Given the description of an element on the screen output the (x, y) to click on. 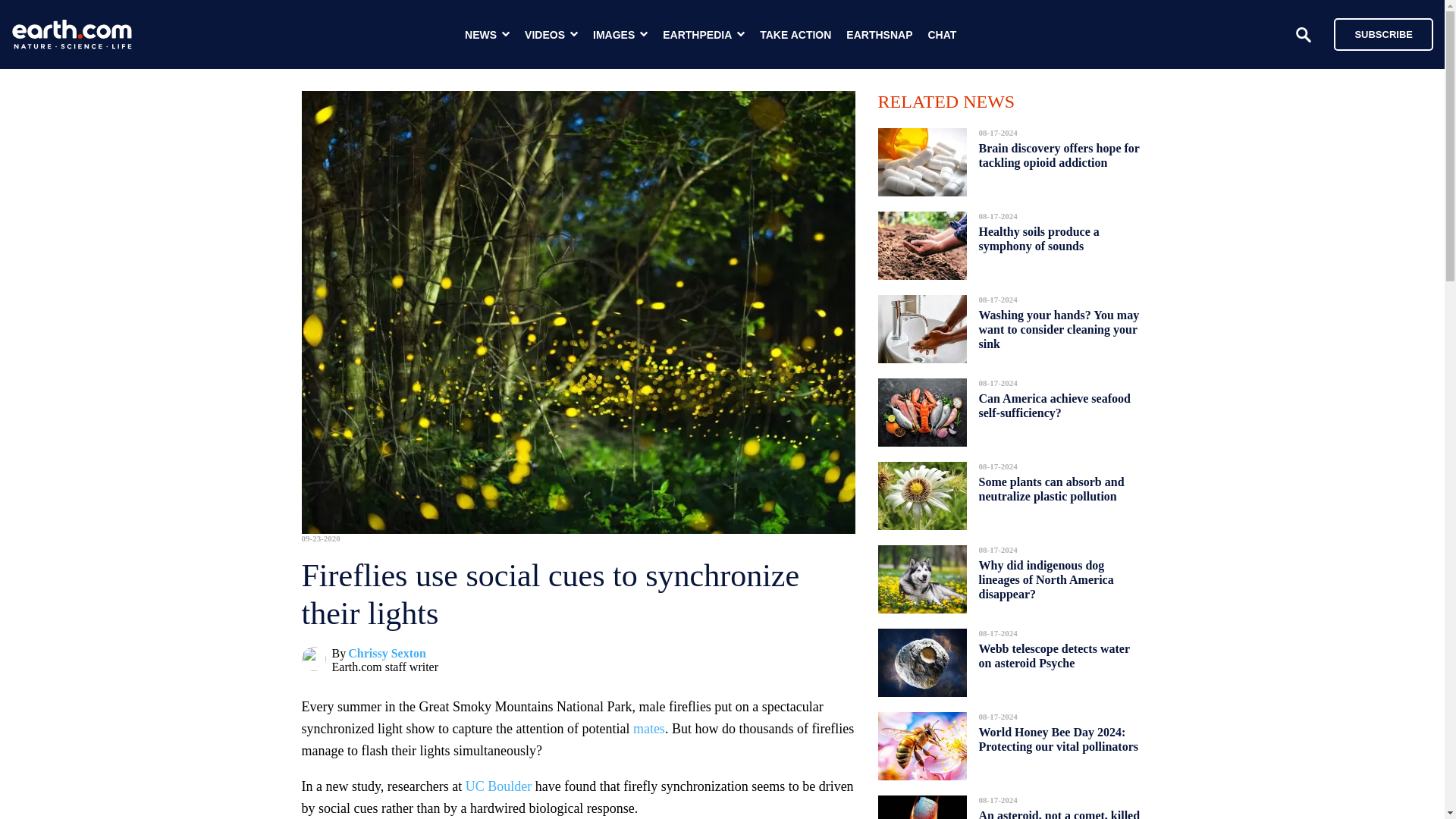
EARTHSNAP (878, 34)
Chrissy Sexton (386, 653)
Brain discovery offers hope for tackling opioid addiction (1058, 155)
TAKE ACTION (795, 34)
SUBSCRIBE (1382, 34)
UC Boulder (498, 785)
mates (649, 728)
Some plants can absorb and neutralize plastic pollution (1051, 488)
Can America achieve seafood self-sufficiency? (1053, 405)
CHAT (941, 34)
